Given the description of an element on the screen output the (x, y) to click on. 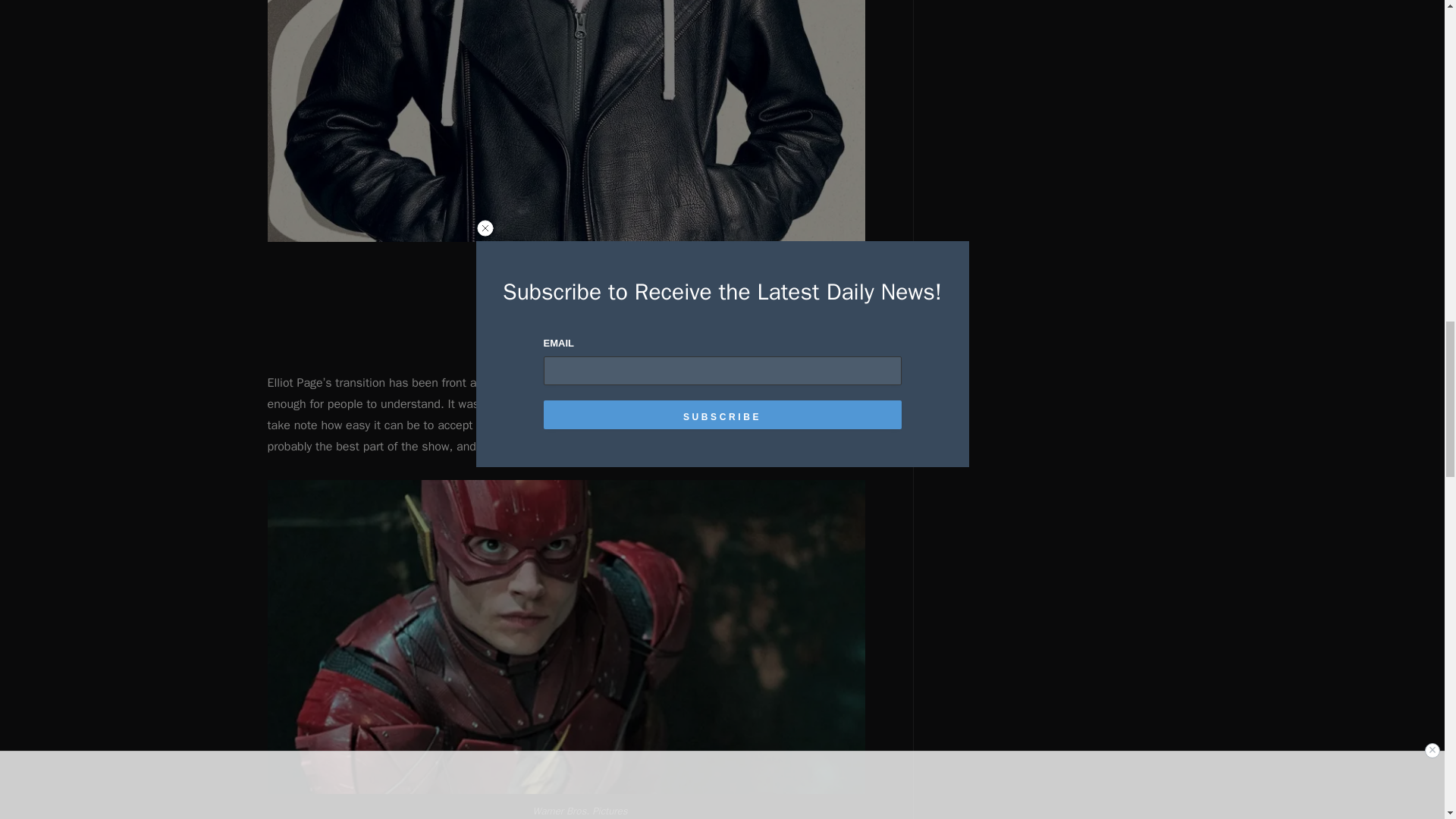
Umbrella Academy (596, 382)
